Given the description of an element on the screen output the (x, y) to click on. 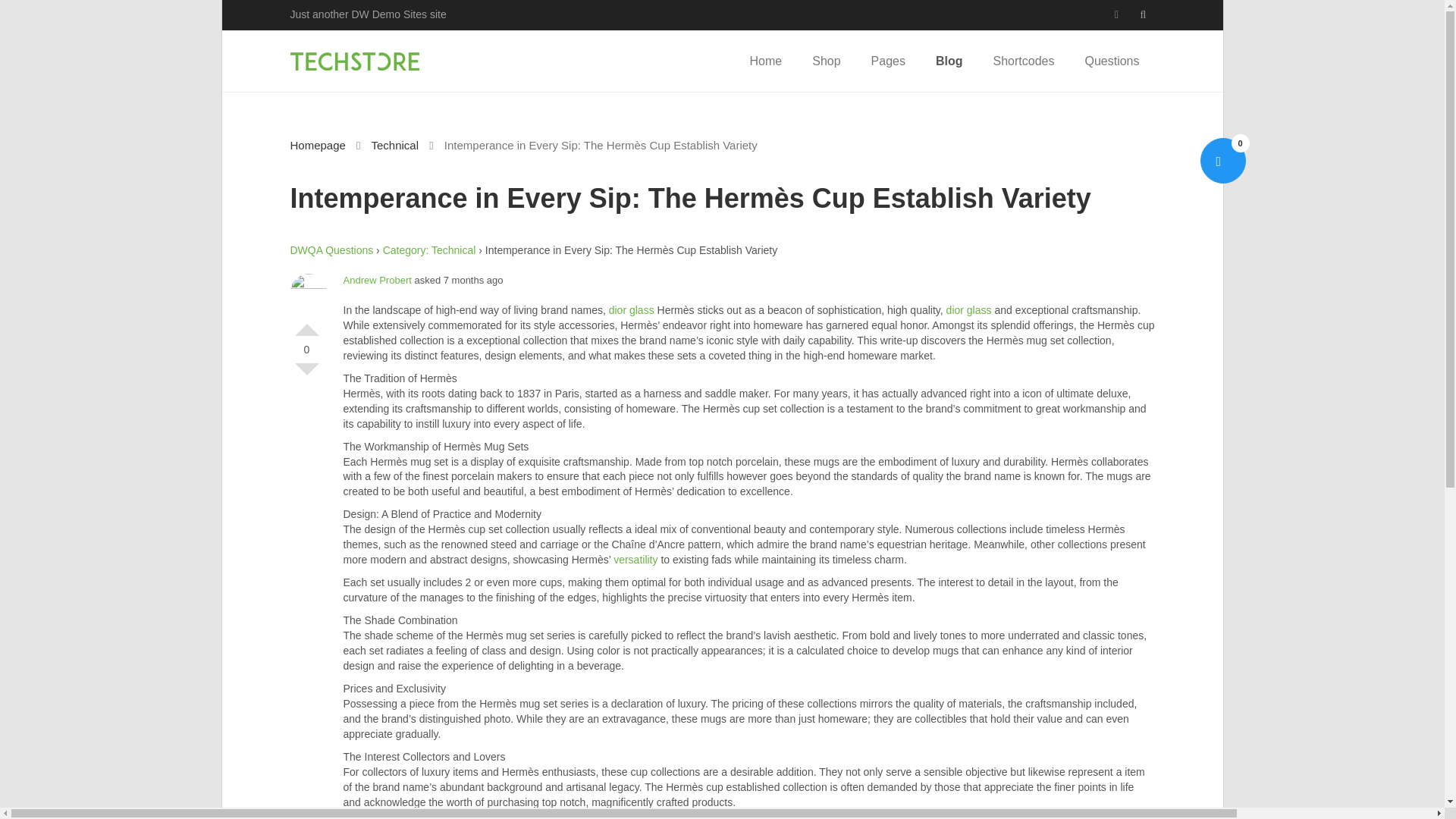
Pages (888, 61)
Home (766, 61)
Blog (949, 61)
DW TechStore (354, 61)
Shop (826, 61)
